Given the description of an element on the screen output the (x, y) to click on. 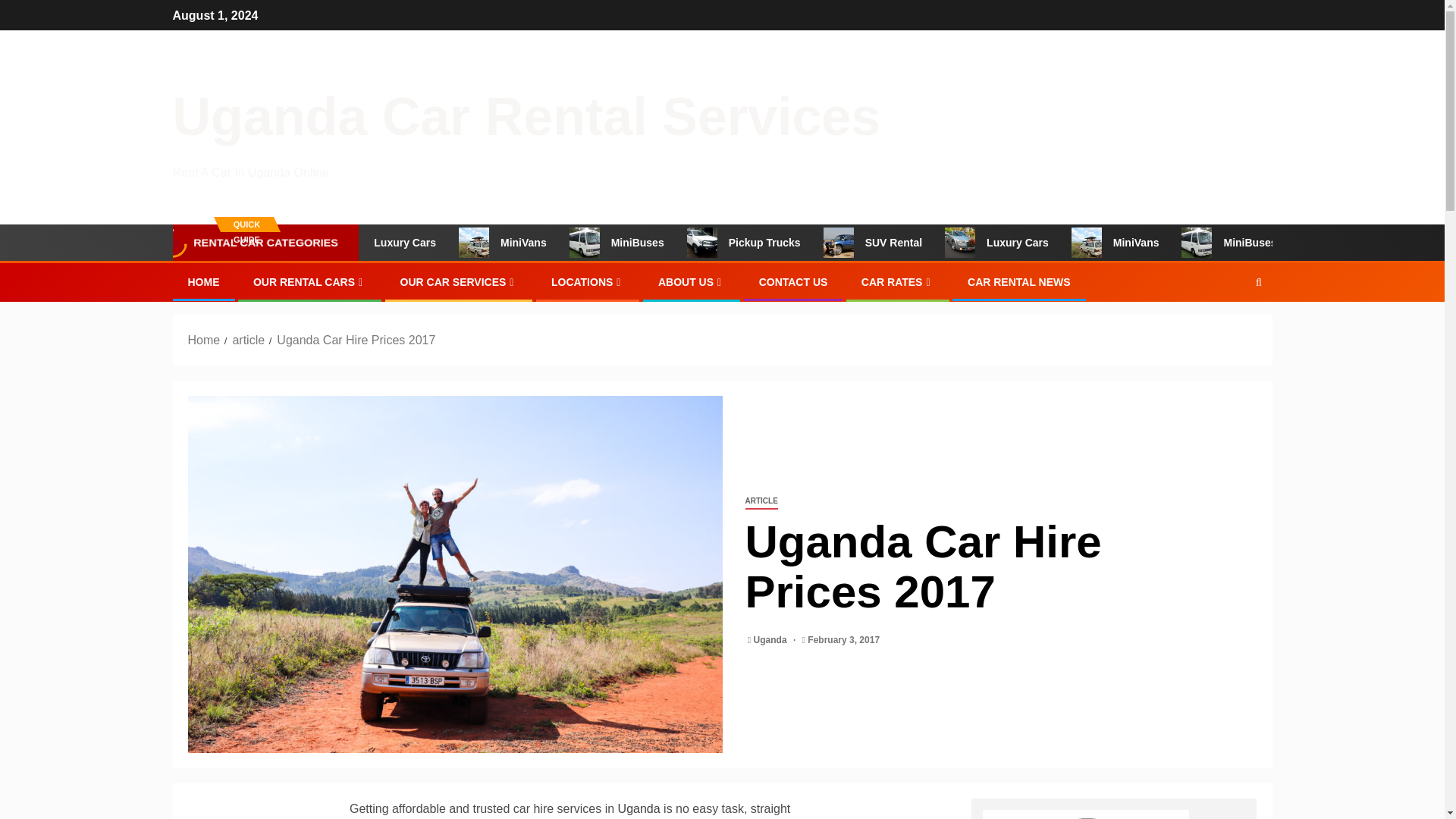
Luxury Cars (1037, 242)
MiniBuses (658, 242)
SUV Rental (913, 242)
OUR RENTAL CARS (309, 282)
MiniVans (1155, 242)
Pickup Trucks (785, 242)
HOME (203, 282)
Luxury Cars (427, 242)
MiniVans (545, 242)
MiniBuses (1269, 242)
Uganda Car Rental Services (526, 116)
